Given the description of an element on the screen output the (x, y) to click on. 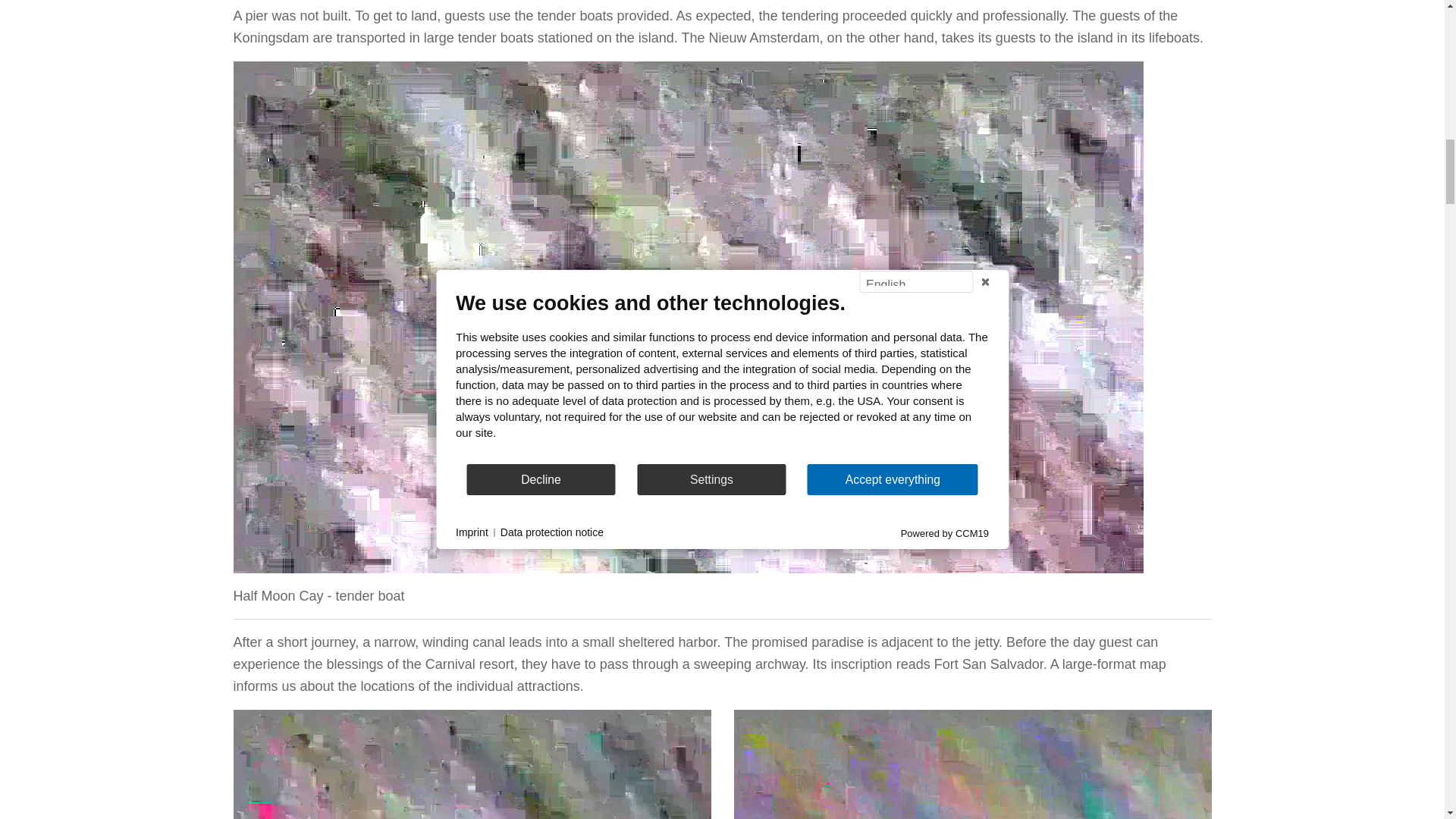
Half Moon Cay - Fort San Salvador (972, 764)
Half Moon Cay - harbor (471, 764)
